Given the description of an element on the screen output the (x, y) to click on. 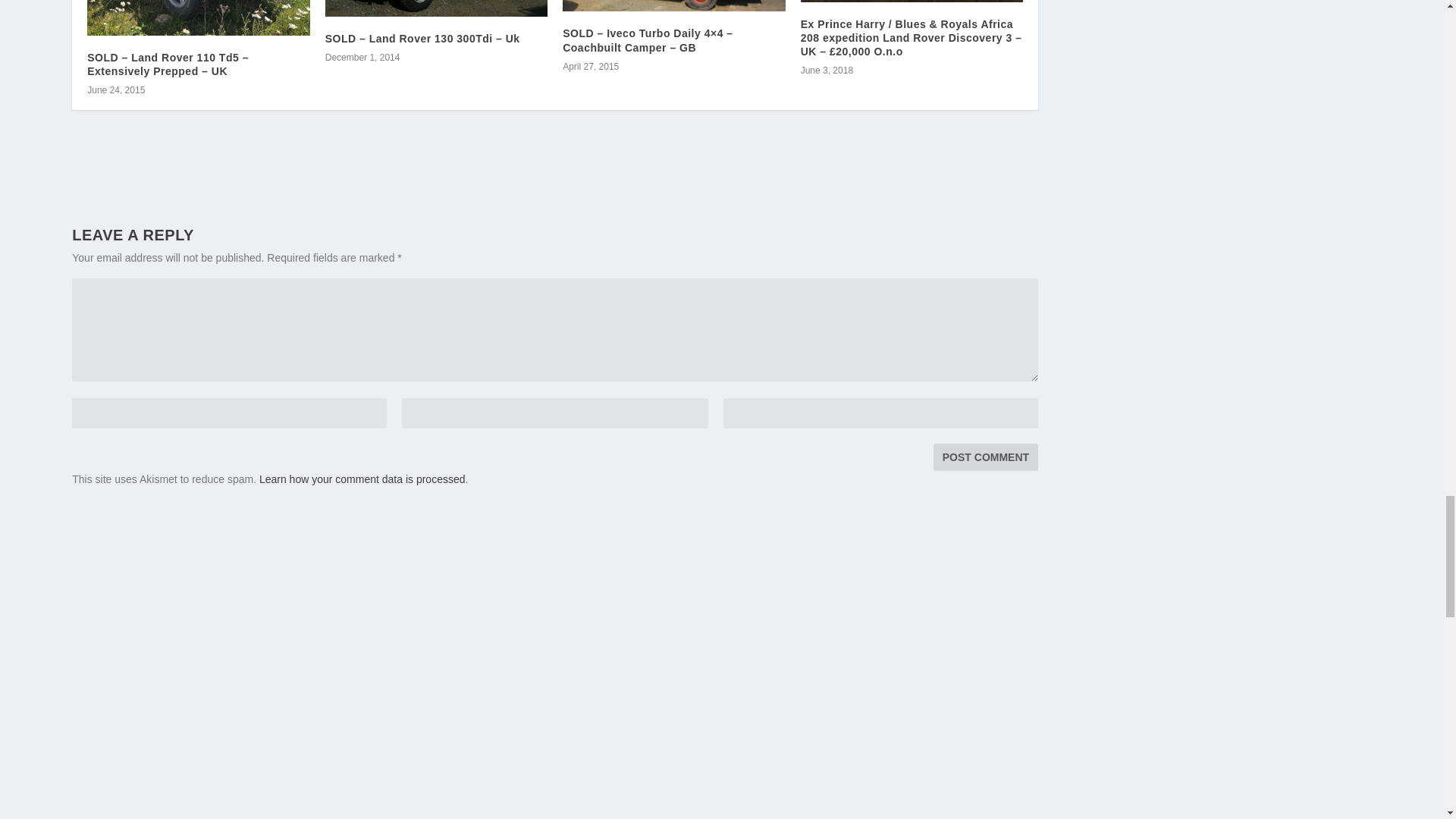
Post Comment (985, 456)
